Given the description of an element on the screen output the (x, y) to click on. 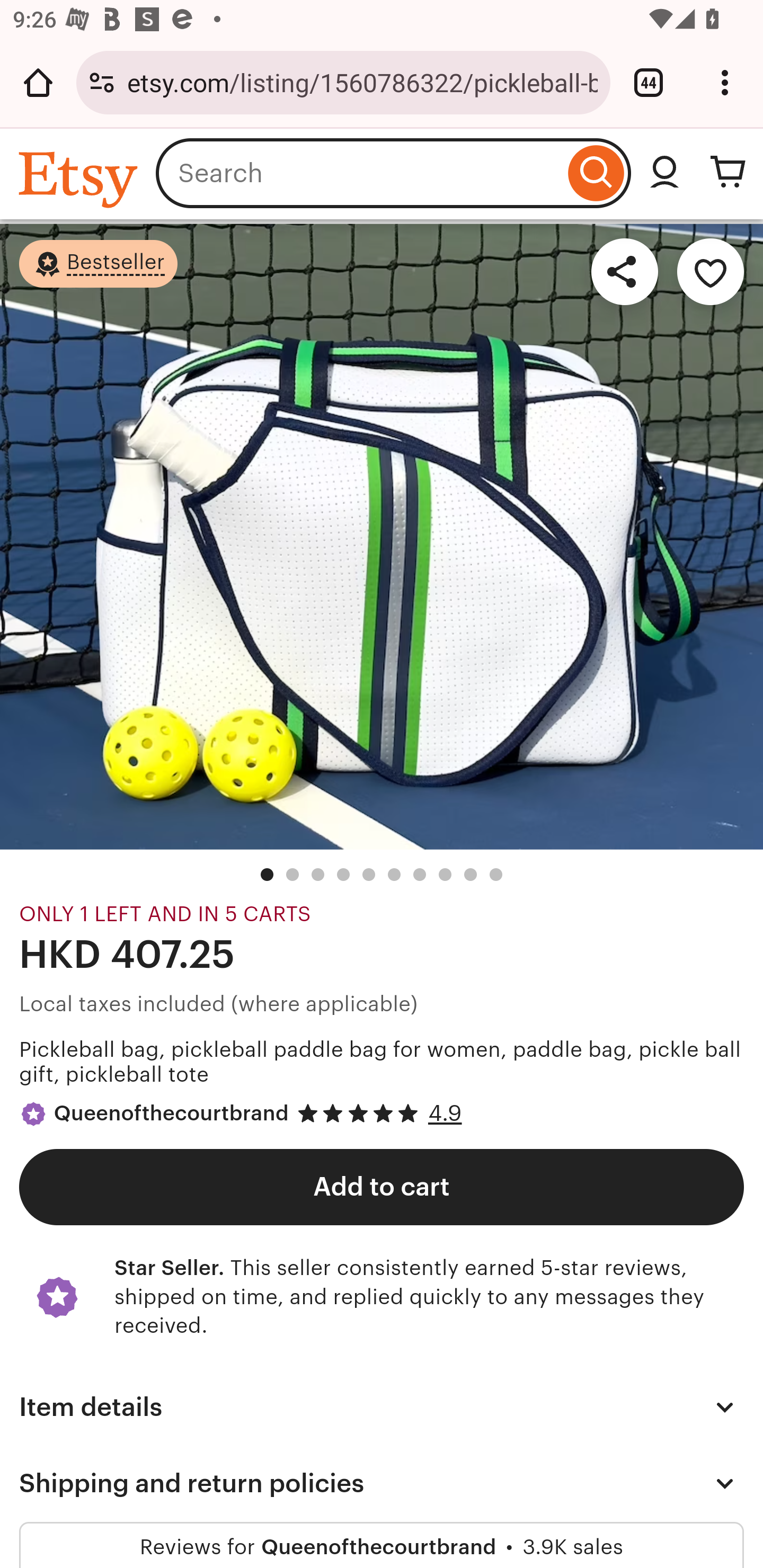
Open the home page (38, 82)
Connection is secure (101, 82)
Switch or close tabs (648, 82)
Customize and control Google Chrome (724, 82)
Search (595, 172)
Cart (727, 172)
Sign in (664, 172)
Etsy (80, 178)
Bestseller (98, 263)
Share (624, 271)
Add to Favorites (710, 271)
5 out of 5 stars (365, 1113)
Queenofthecourtbrand (170, 1112)
4.9 (444, 1113)
Add to cart (381, 1185)
Item details (381, 1406)
Shipping and return policies (381, 1483)
